Given the description of an element on the screen output the (x, y) to click on. 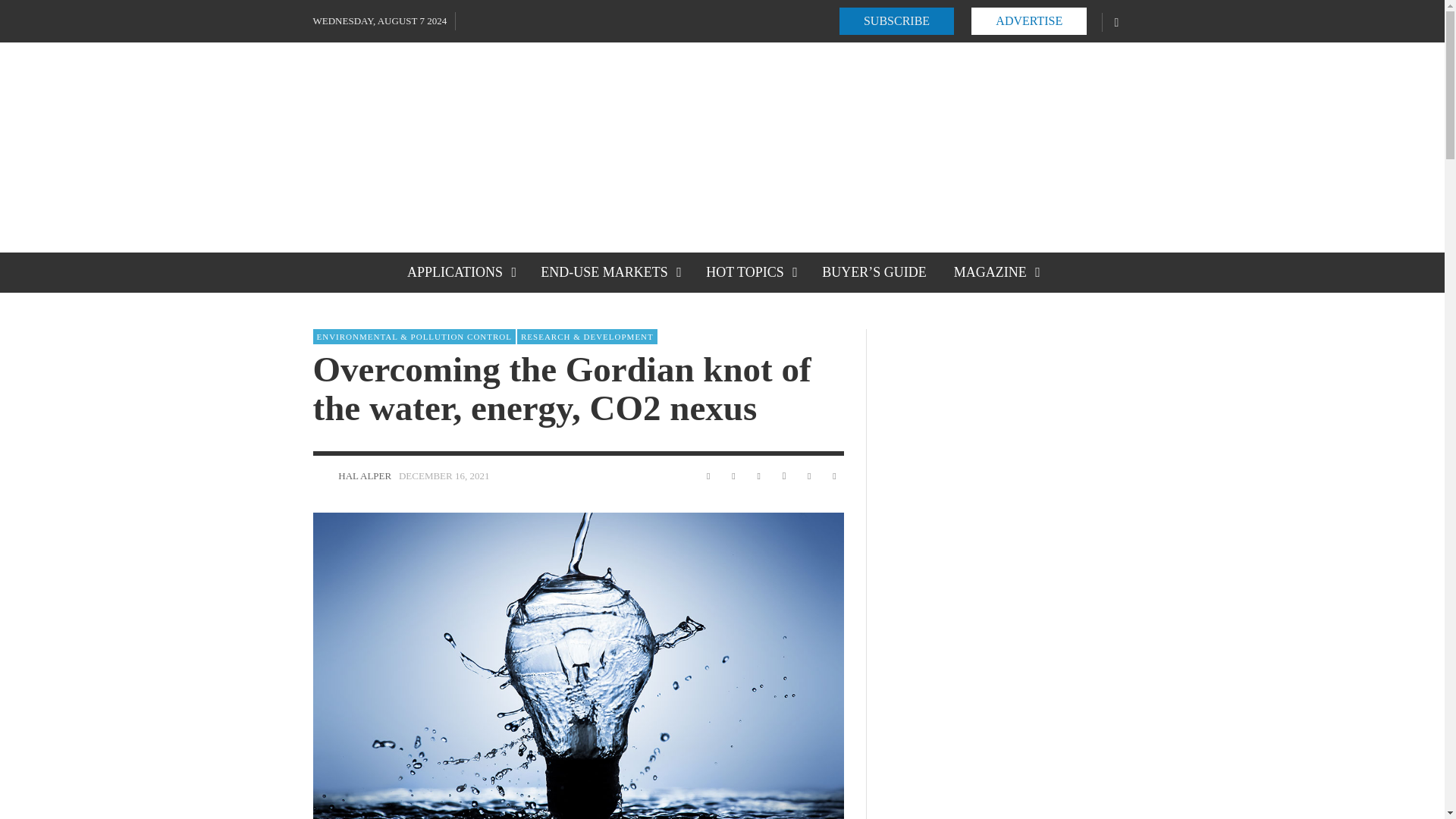
HOT TOPICS (750, 272)
END-USE MARKETS (610, 272)
ADVERTISE (1028, 21)
Posts by Hal Alper (321, 475)
Posts by Hal Alper (364, 475)
3rd party ad content (855, 147)
APPLICATIONS (460, 272)
MAGAZINE (995, 272)
SUBSCRIBE (896, 21)
